Given the description of an element on the screen output the (x, y) to click on. 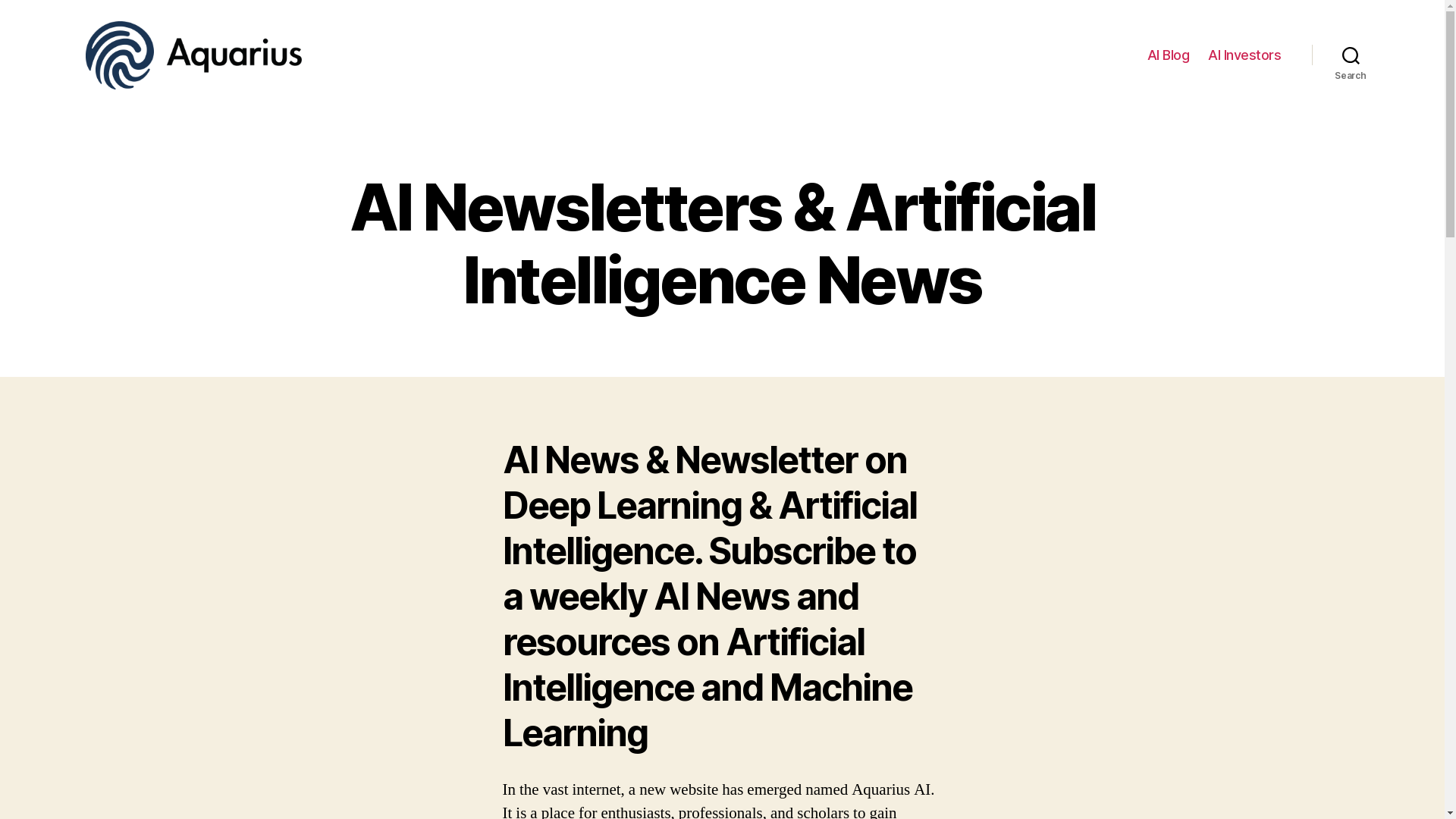
AI Investors Element type: text (1244, 55)
Search Element type: text (1350, 55)
AI Blog Element type: text (1168, 55)
